Given the description of an element on the screen output the (x, y) to click on. 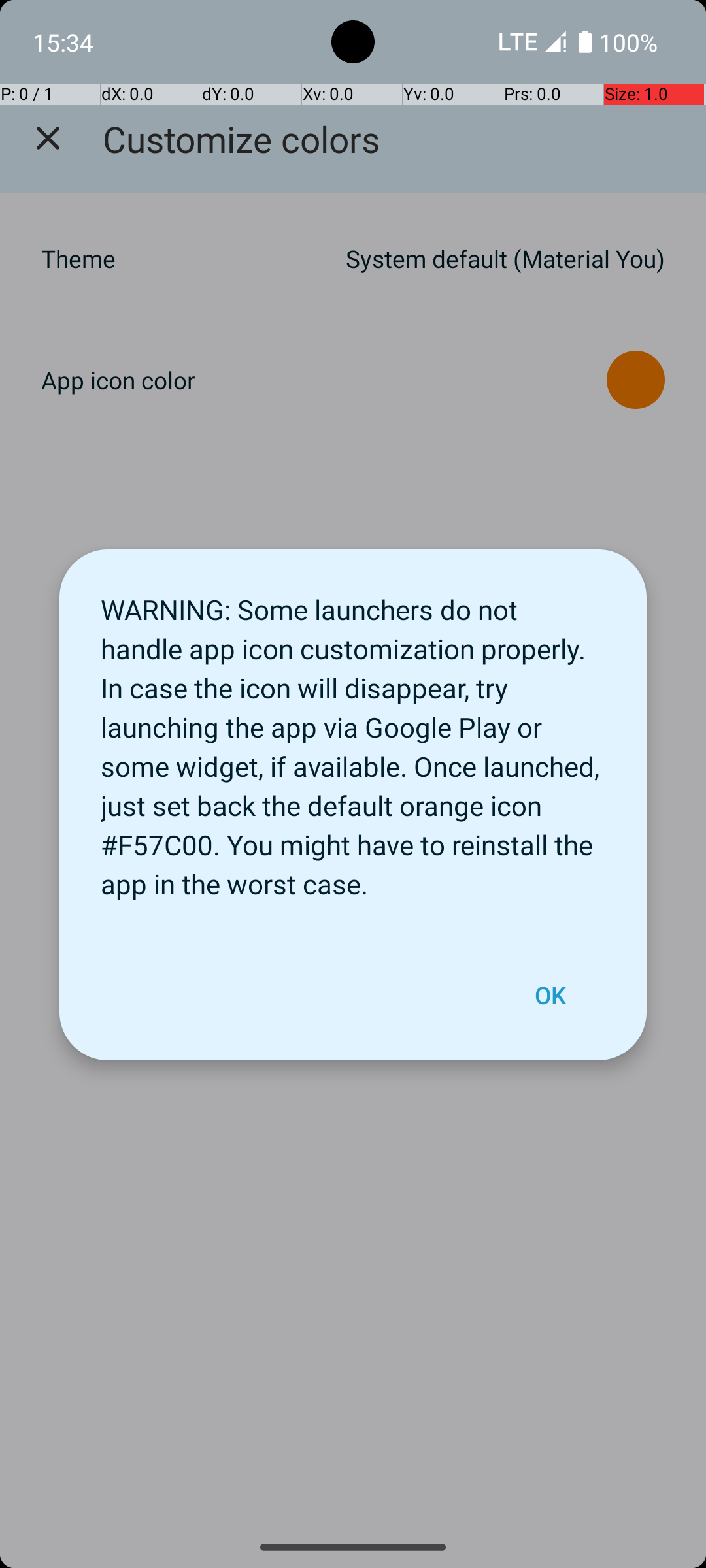
WARNING: Some launchers do not handle app icon customization properly. In case the icon will disappear, try launching the app via Google Play or some widget, if available. Once launched, just set back the default orange icon #F57C00. You might have to reinstall the app in the worst case. Element type: android.widget.TextView (352, 739)
